Given the description of an element on the screen output the (x, y) to click on. 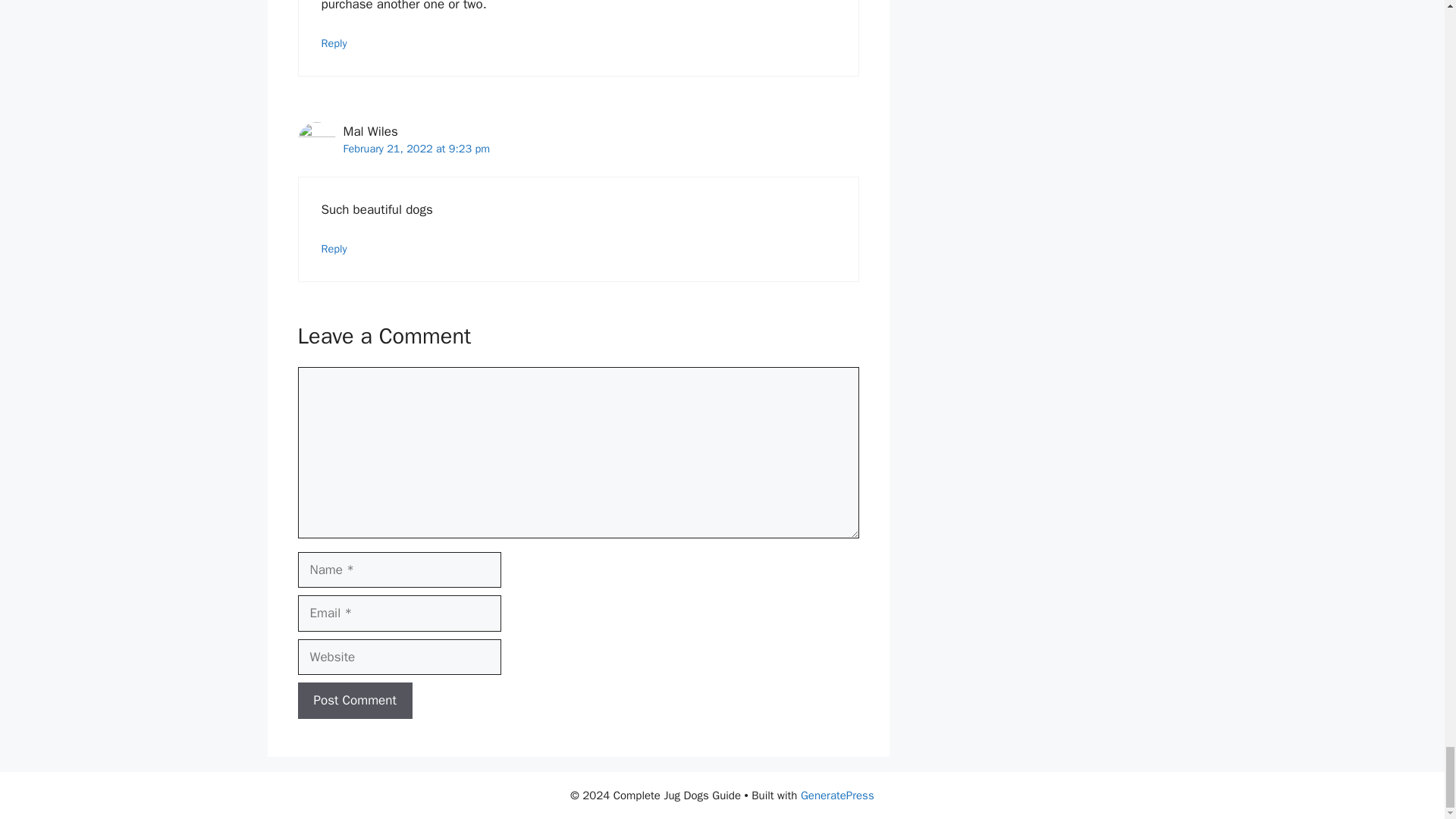
Post Comment (354, 700)
Reply (334, 42)
Reply (334, 248)
February 21, 2022 at 9:23 pm (415, 148)
